Given the description of an element on the screen output the (x, y) to click on. 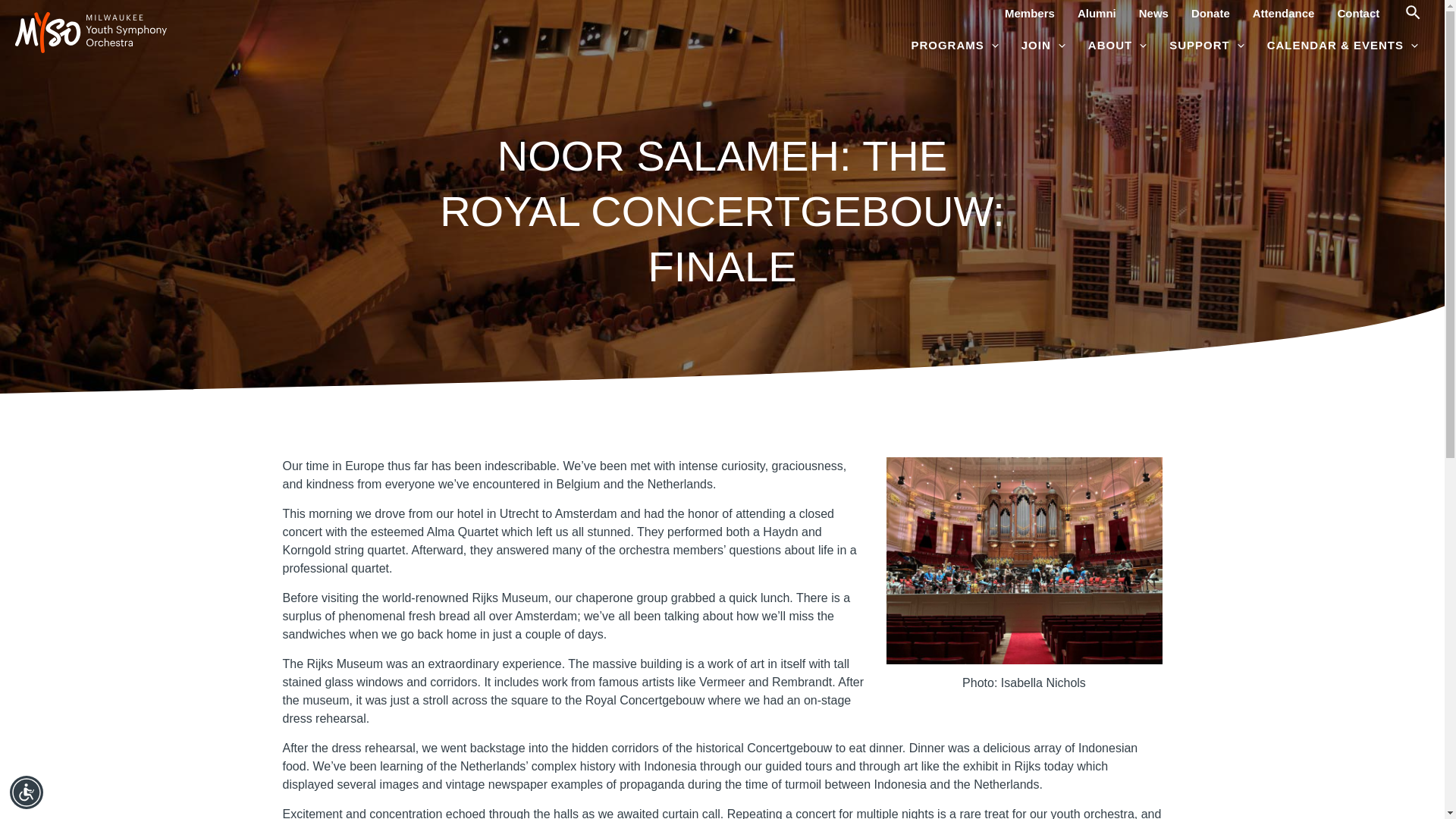
SUPPORT (1206, 45)
Alumni (1095, 13)
Members (1028, 13)
Donate (1210, 13)
PROGRAMS (954, 45)
Attendance (1283, 13)
News (1152, 13)
Contact (1357, 13)
JOIN (1043, 45)
Accessibility Menu (26, 792)
ABOUT (1117, 45)
